Given the description of an element on the screen output the (x, y) to click on. 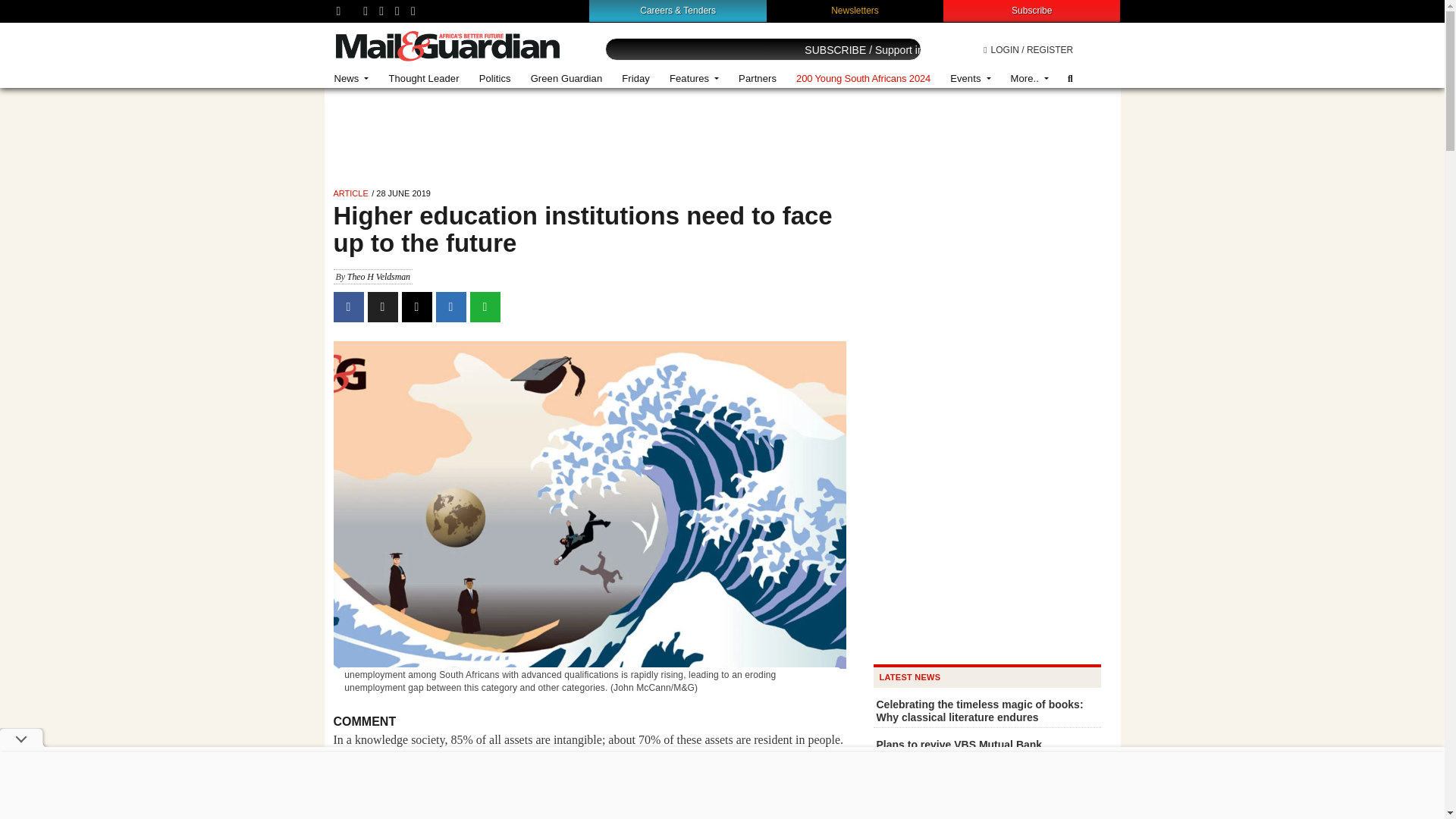
Thought Leader (423, 78)
Newsletters (855, 9)
Friday (635, 78)
Subscribe (1031, 9)
Features (694, 78)
Green Guardian (566, 78)
Politics (494, 78)
News (351, 78)
News (351, 78)
